Given the description of an element on the screen output the (x, y) to click on. 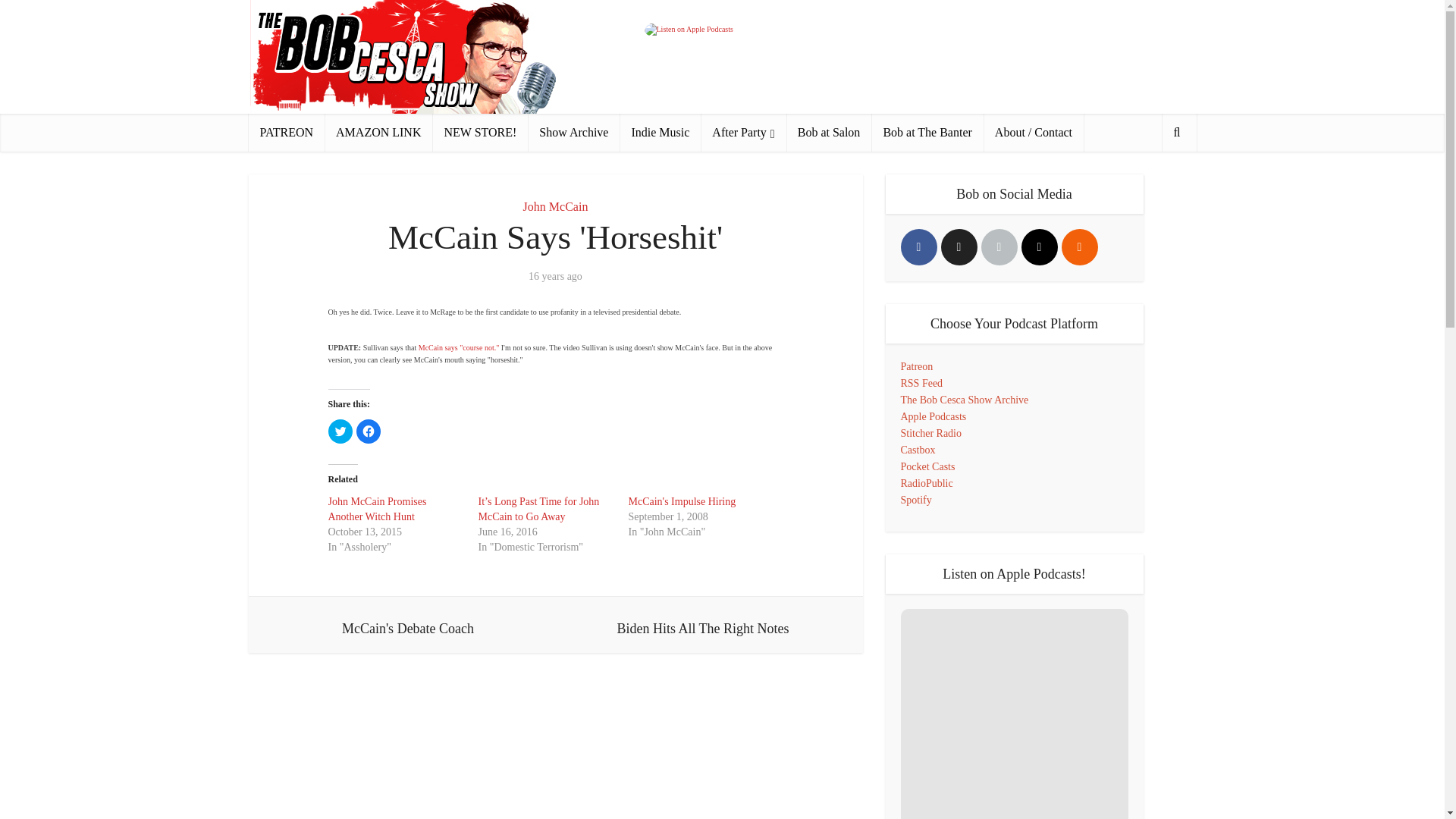
Bob at The Banter (926, 132)
apple (999, 247)
Biden Hits All The Right Notes (702, 624)
PATREON (286, 132)
NEW STORE! (479, 132)
John McCain (555, 205)
Castbox (918, 449)
AMAZON LINK (378, 132)
Pocket Casts (928, 466)
Bob at Salon (829, 132)
